Given the description of an element on the screen output the (x, y) to click on. 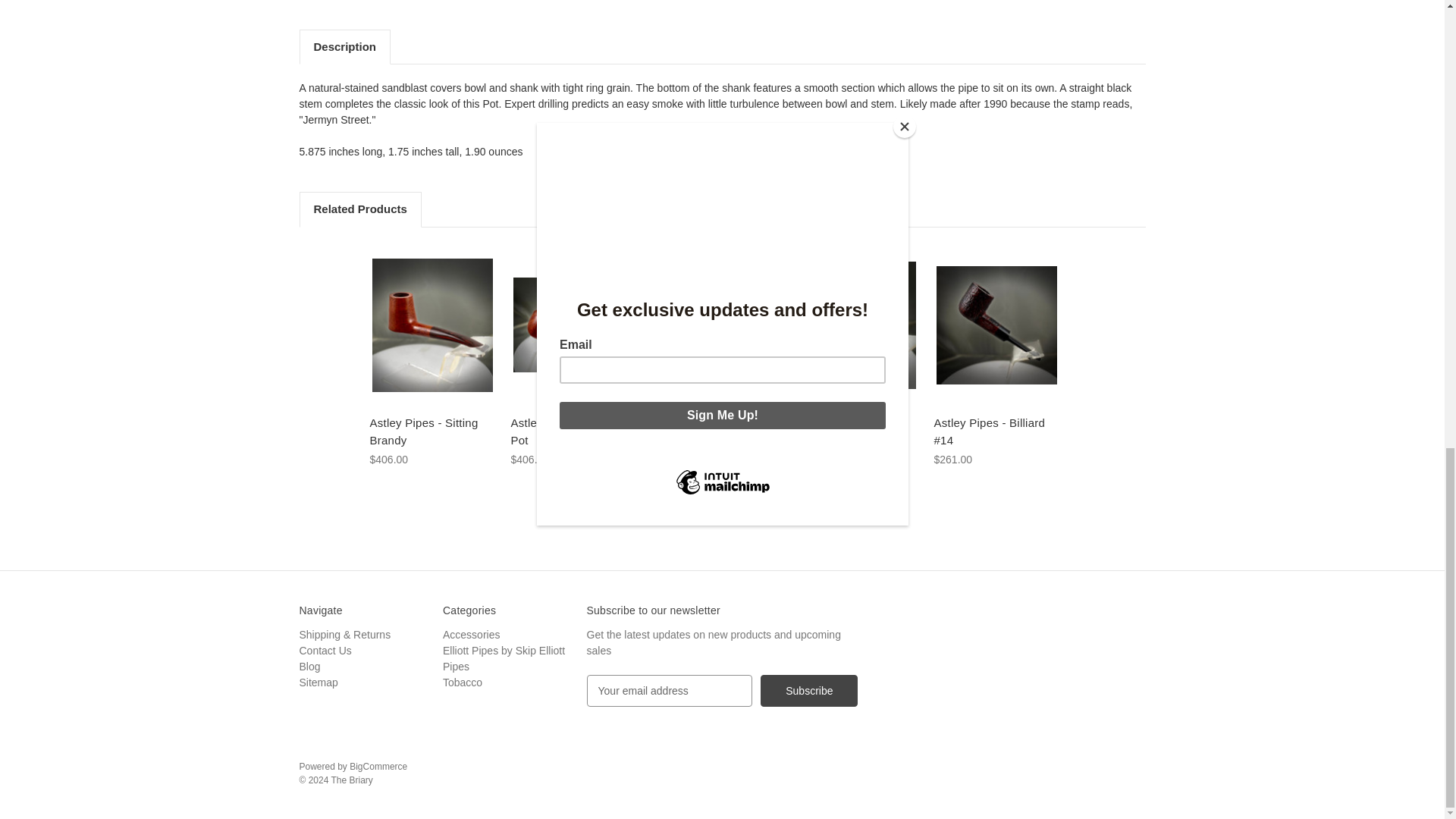
Astley Pipes - Sitting Brandy (431, 325)
Subscribe (808, 690)
Astley Pipes - Brandy Pot (572, 324)
